Given the description of an element on the screen output the (x, y) to click on. 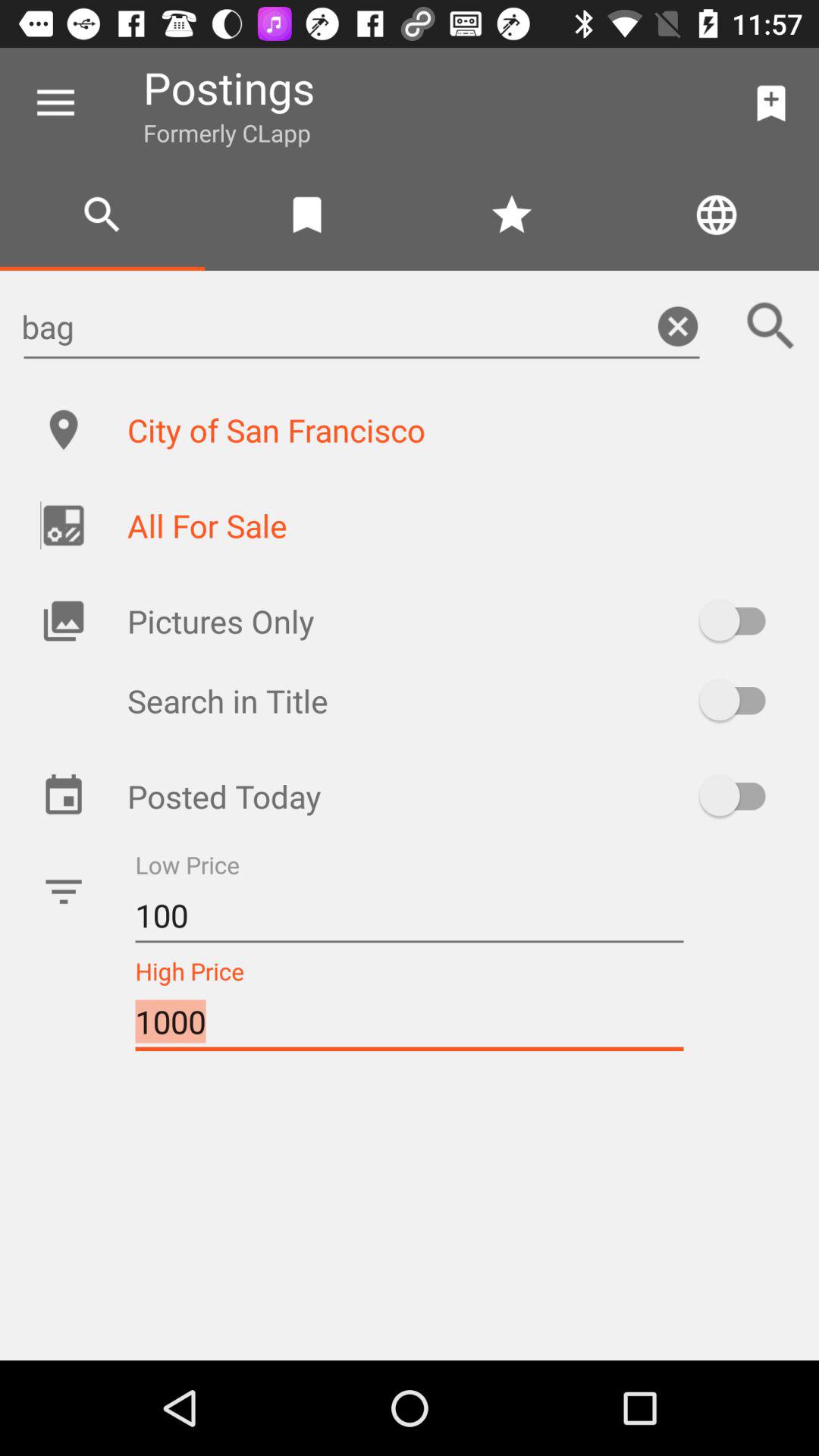
search in title (739, 700)
